Given the description of an element on the screen output the (x, y) to click on. 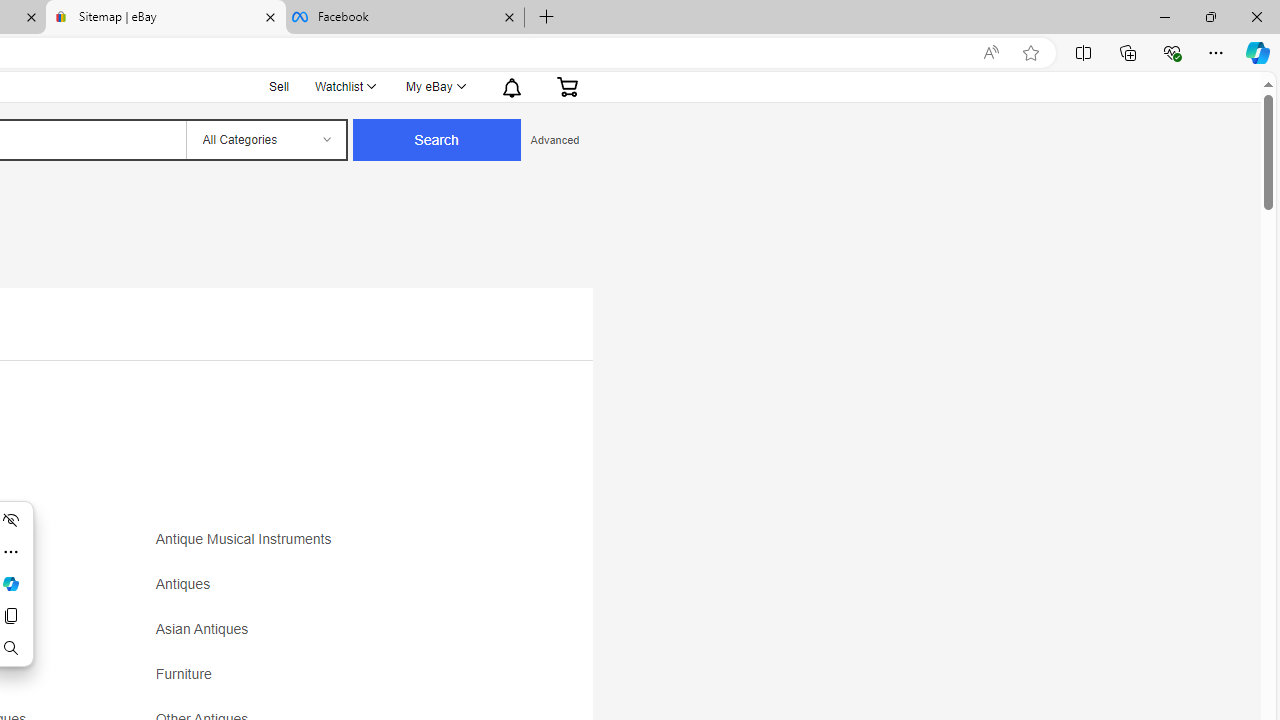
Expand Cart (567, 86)
Advanced Search (554, 139)
Antique Musical Instruments (247, 539)
Facebook (404, 17)
Furniture (187, 673)
Select a category for search (265, 139)
My eBayExpand My eBay (434, 86)
Sitemap | eBay (166, 17)
Notification (512, 86)
Furniture (332, 681)
Antiques (187, 583)
